Given the description of an element on the screen output the (x, y) to click on. 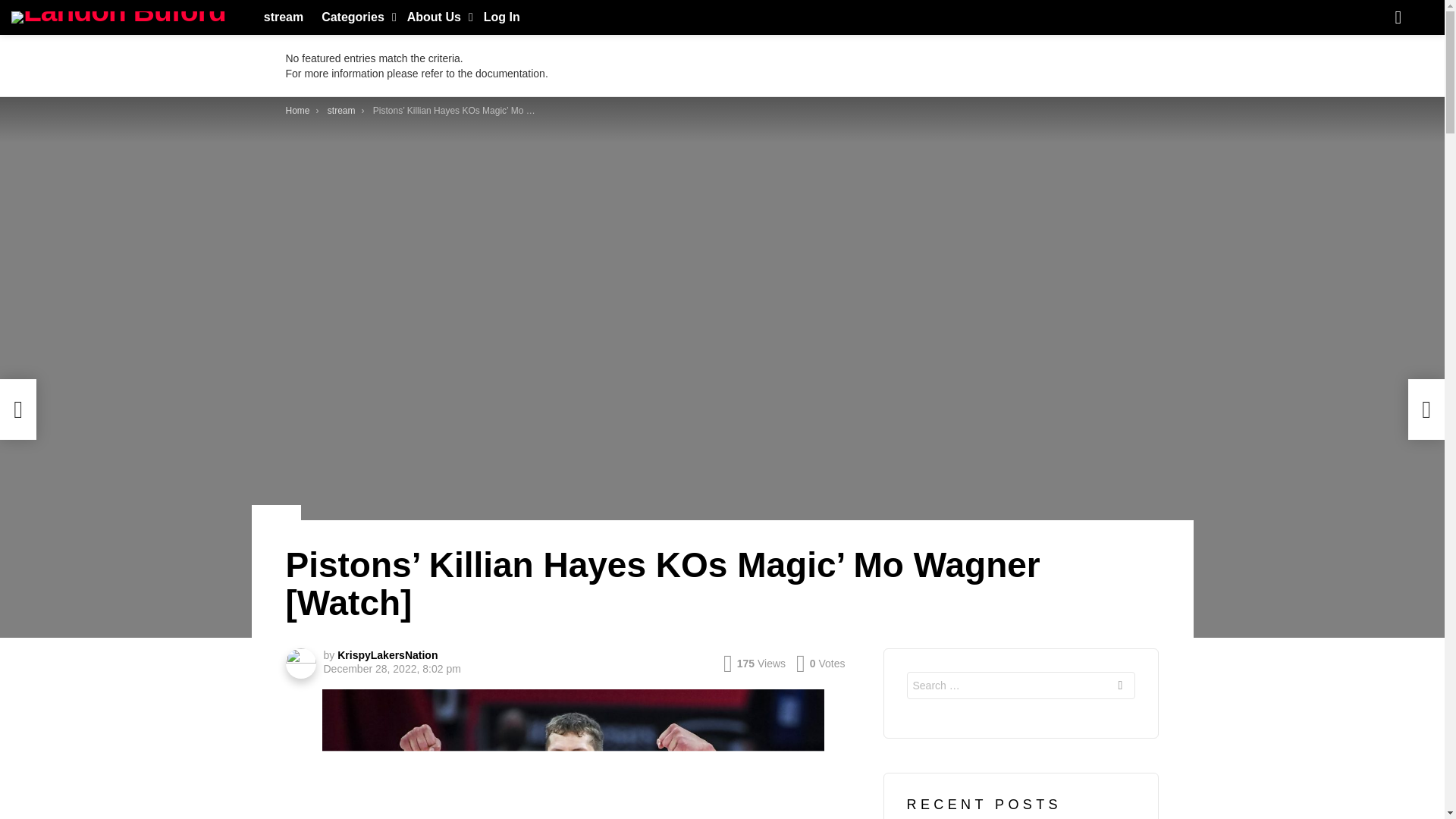
SPORTS (276, 512)
stream (283, 16)
About Us (435, 16)
Posts by KrispyLakersNation (387, 654)
KrispyLakersNation (387, 654)
Categories (355, 16)
Log In (501, 16)
Home (296, 110)
stream (341, 110)
